Given the description of an element on the screen output the (x, y) to click on. 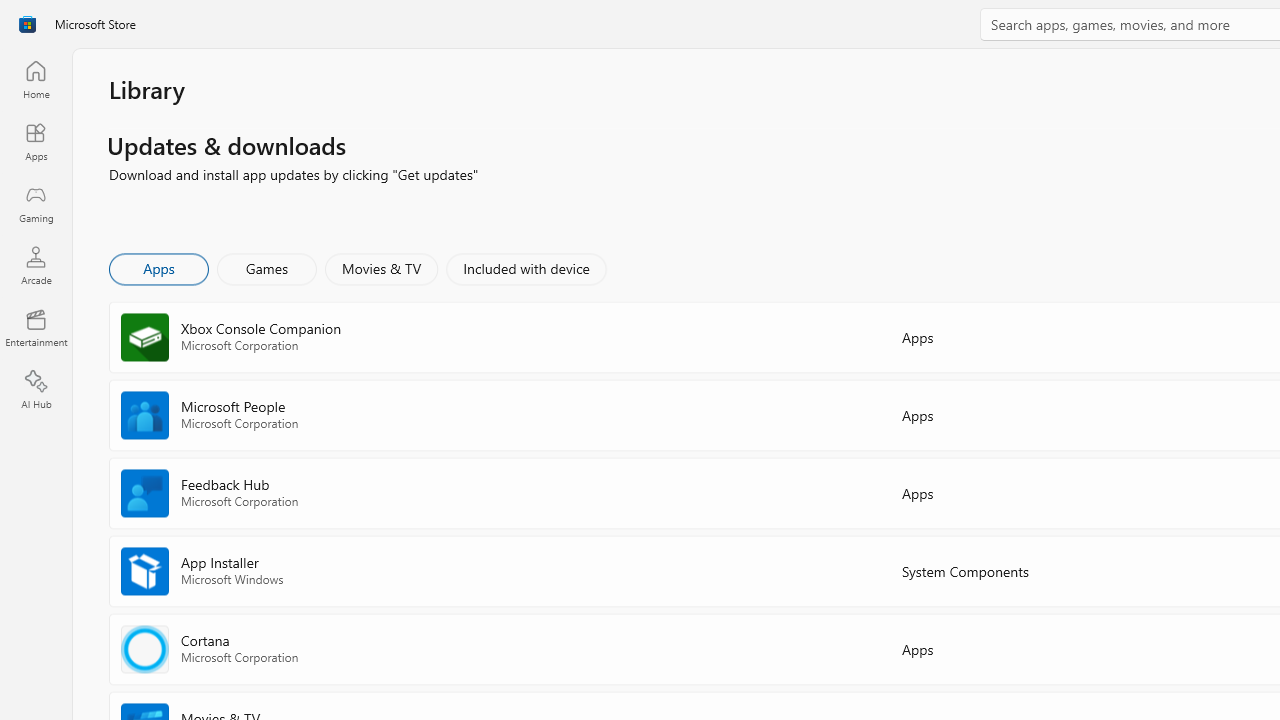
Gaming (35, 203)
Games (267, 268)
Apps (158, 268)
Included with device (525, 268)
Arcade (35, 265)
Class: Image (27, 24)
Apps (35, 141)
Movies & TV (381, 268)
Entertainment (35, 327)
AI Hub (35, 390)
Home (35, 79)
